Given the description of an element on the screen output the (x, y) to click on. 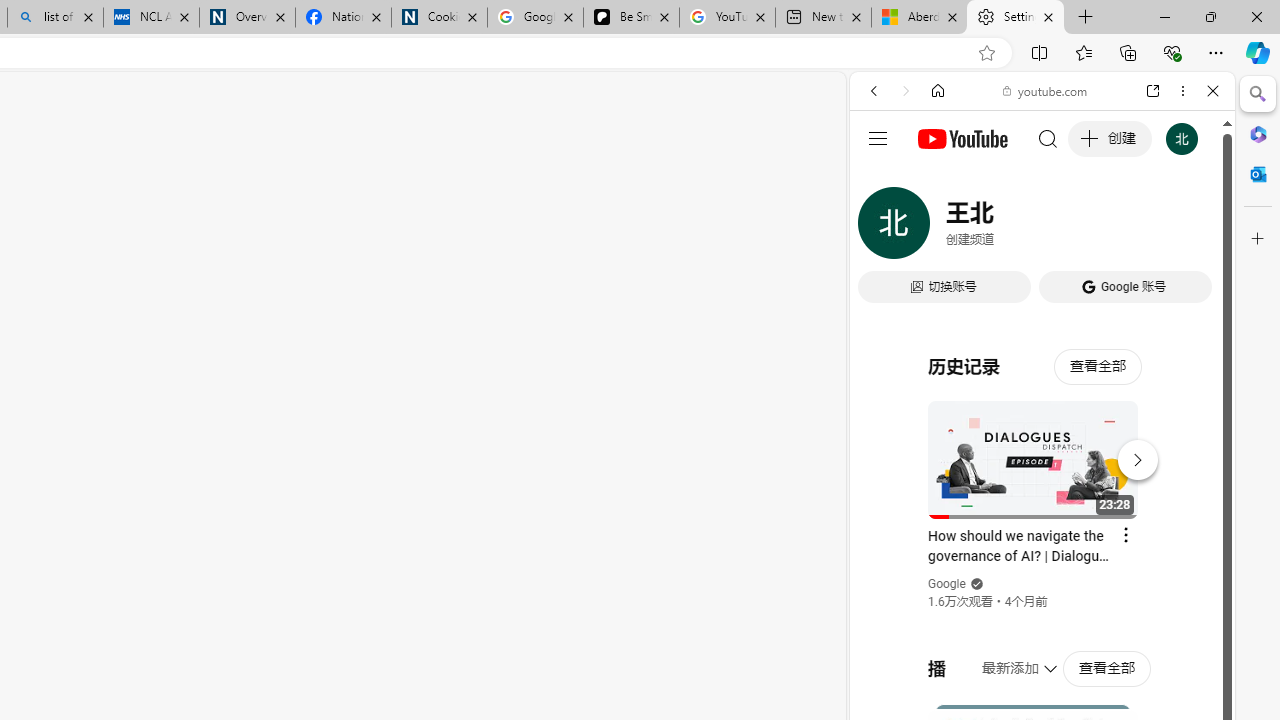
Trailer #2 [HD] (1042, 592)
Search Filter, IMAGES (939, 228)
Google (1042, 494)
YouTube (1034, 296)
WEB   (882, 228)
Music (1042, 543)
Be Smart | creating Science videos | Patreon (631, 17)
Google (947, 584)
